Given the description of an element on the screen output the (x, y) to click on. 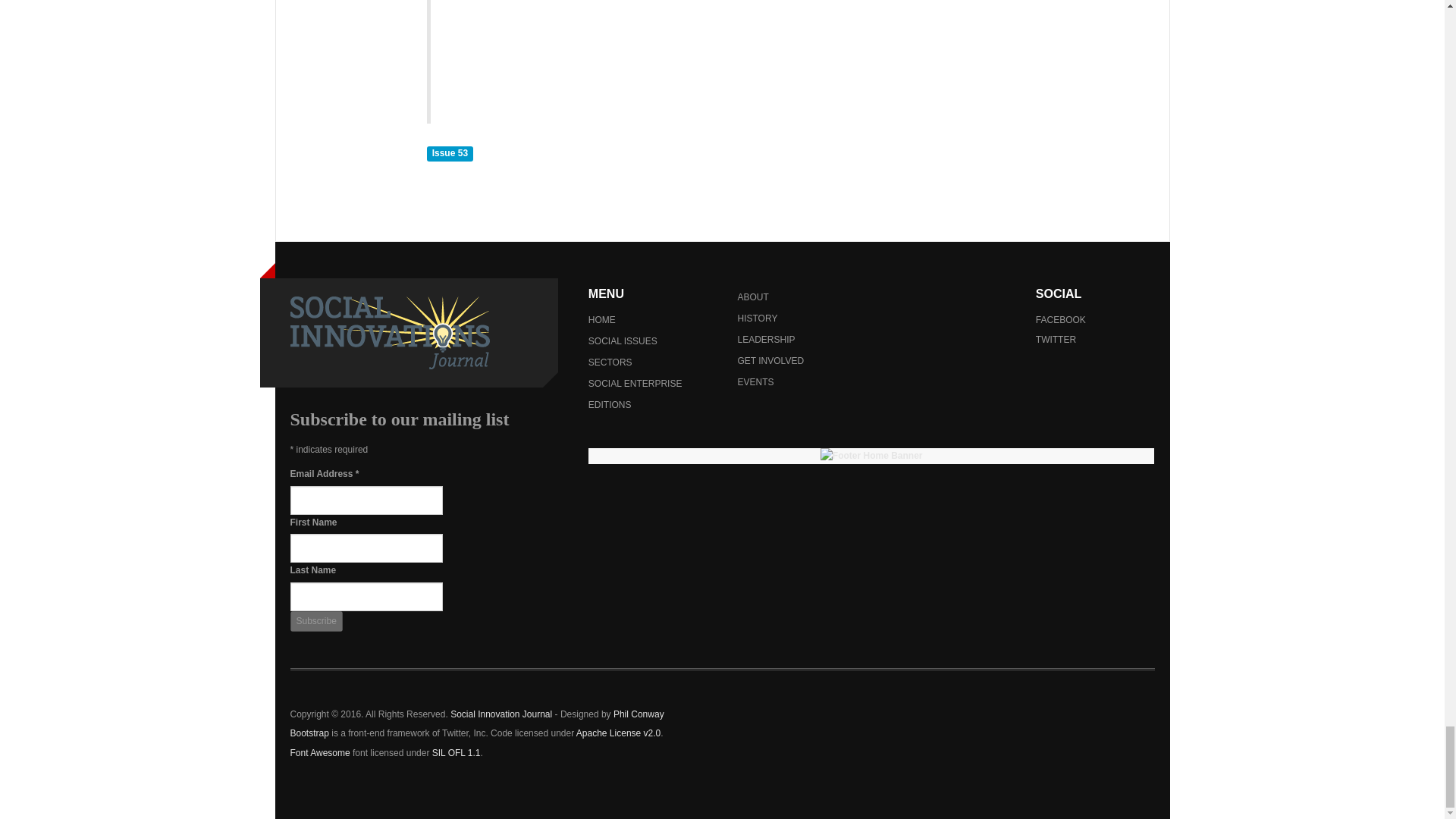
Subscribe (315, 620)
